Given the description of an element on the screen output the (x, y) to click on. 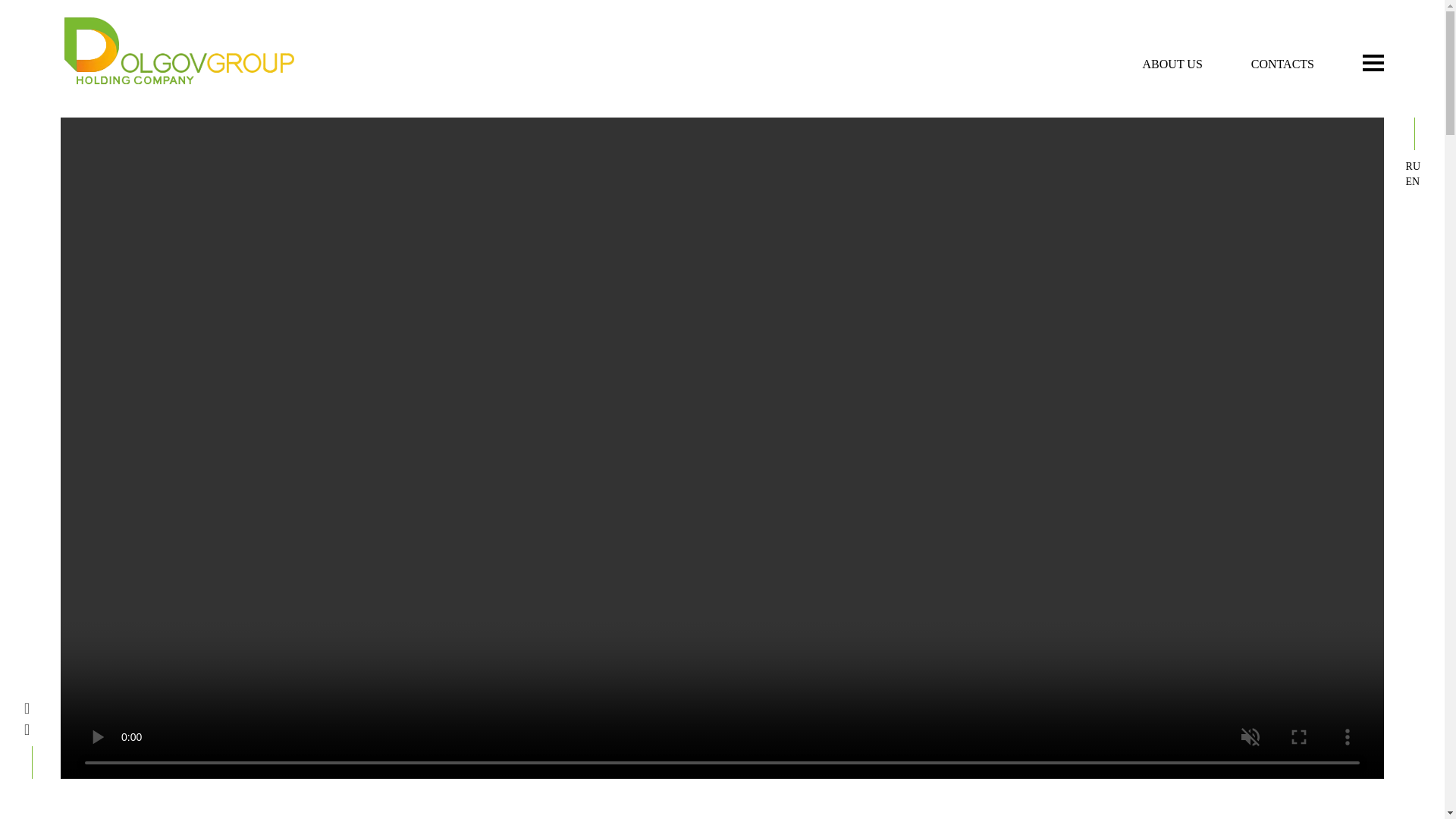
EN (1413, 181)
ABOUT US (1172, 63)
RU (1413, 166)
CONTACTS (1282, 63)
